Given the description of an element on the screen output the (x, y) to click on. 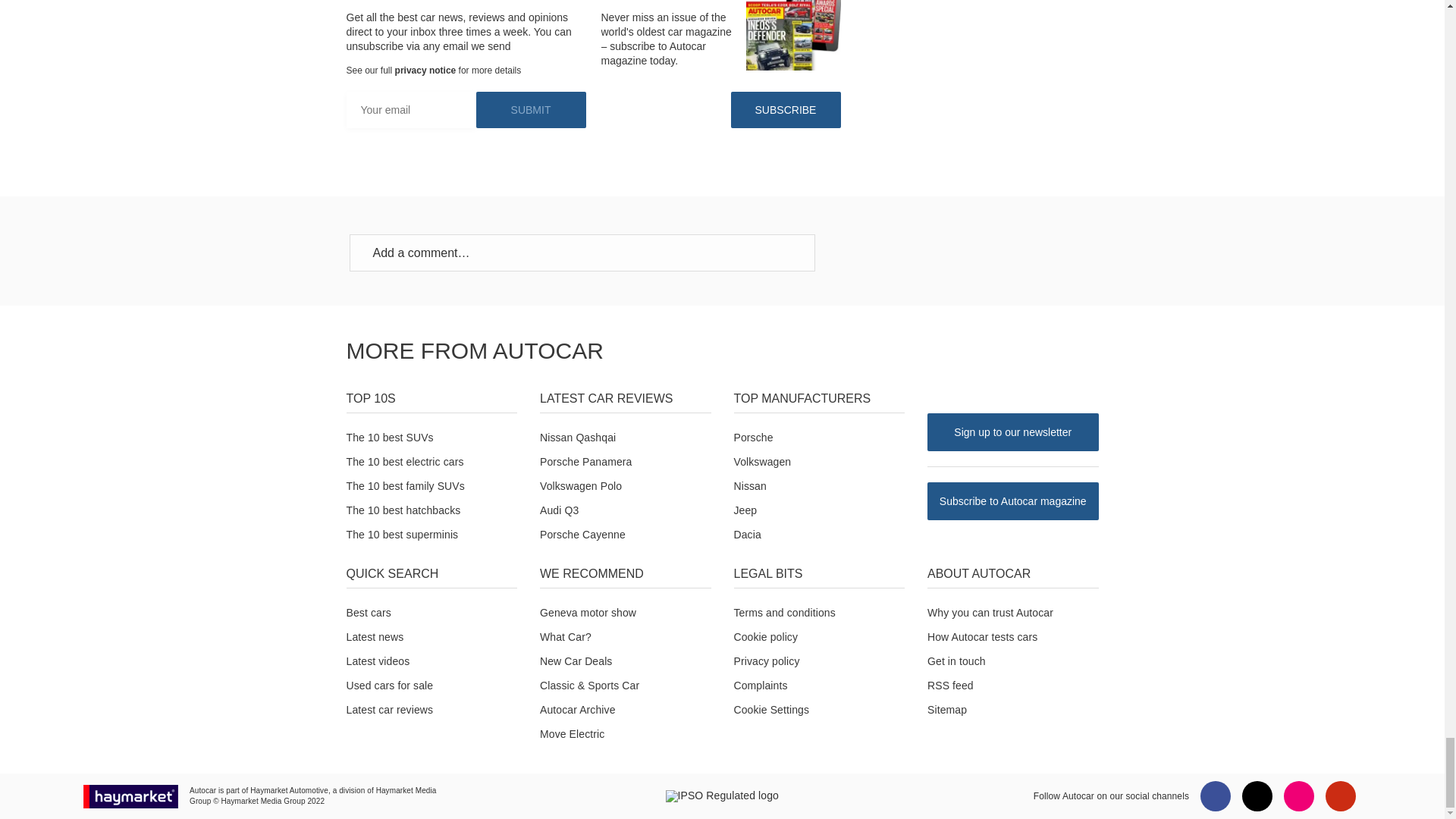
Submit (531, 109)
